Given the description of an element on the screen output the (x, y) to click on. 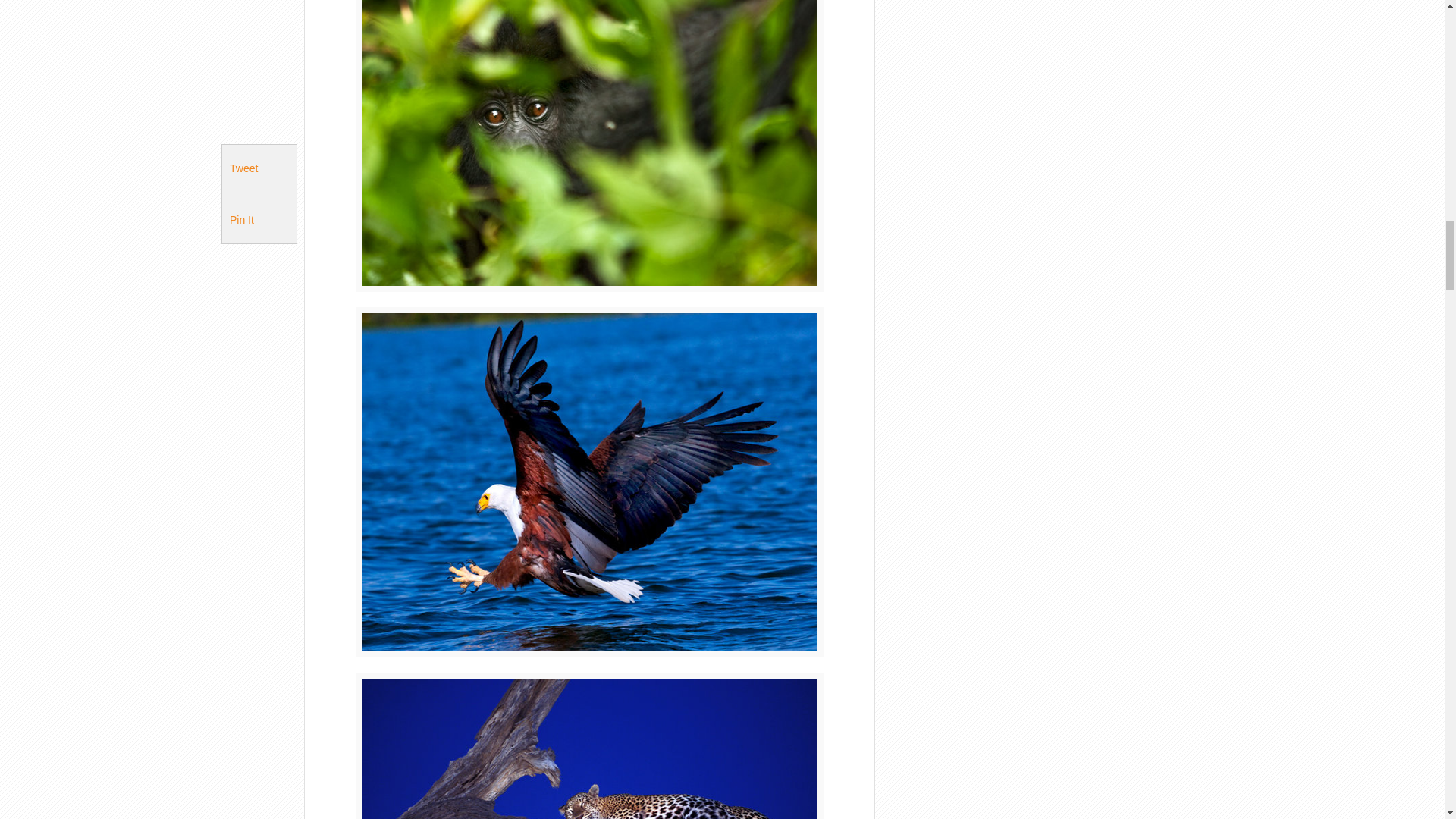
animal-12 (590, 745)
